Given the description of an element on the screen output the (x, y) to click on. 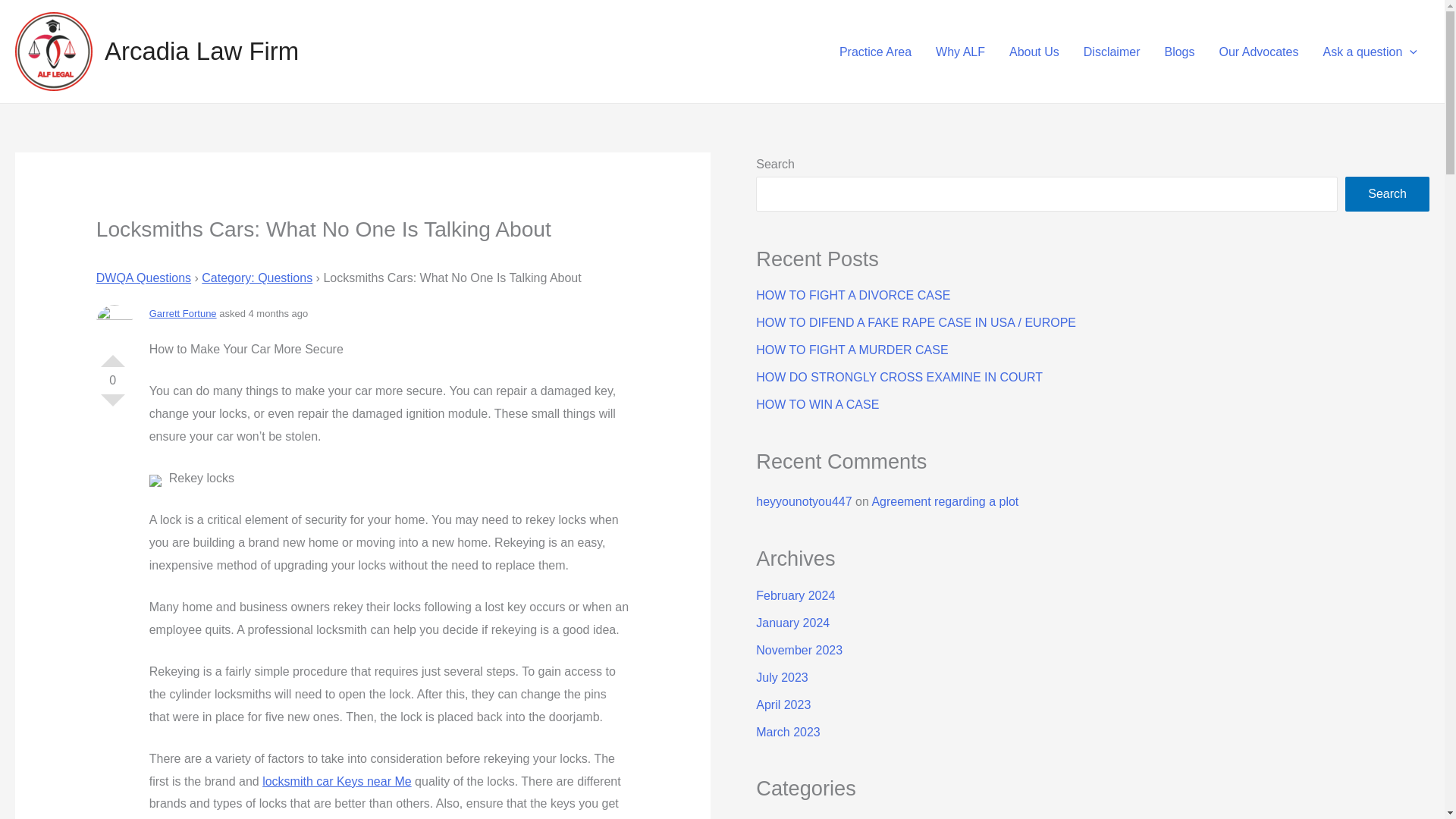
Vote Up (112, 354)
Blogs (1179, 50)
DWQA Questions (143, 277)
Why ALF (960, 50)
Disclaimer (1112, 50)
Category: Questions (257, 277)
Ask a question (1369, 50)
Garrett Fortune (182, 313)
Arcadia Law Firm (201, 50)
Our Advocates (1259, 50)
About Us (1034, 50)
Practice Area (875, 50)
locksmith car Keys near Me (337, 780)
Vote Down (112, 405)
